Given the description of an element on the screen output the (x, y) to click on. 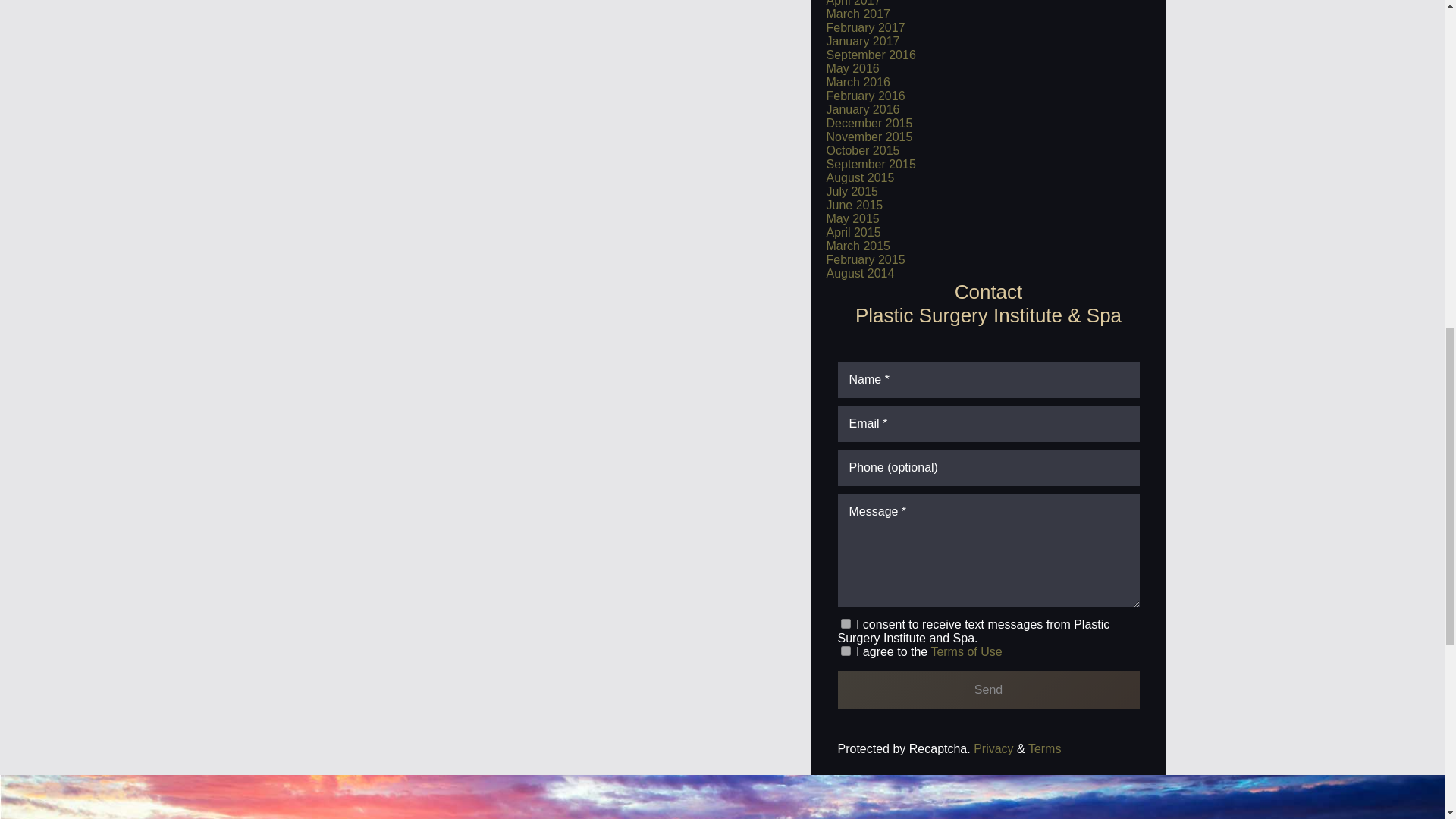
Send (987, 689)
1 (845, 651)
